Given the description of an element on the screen output the (x, y) to click on. 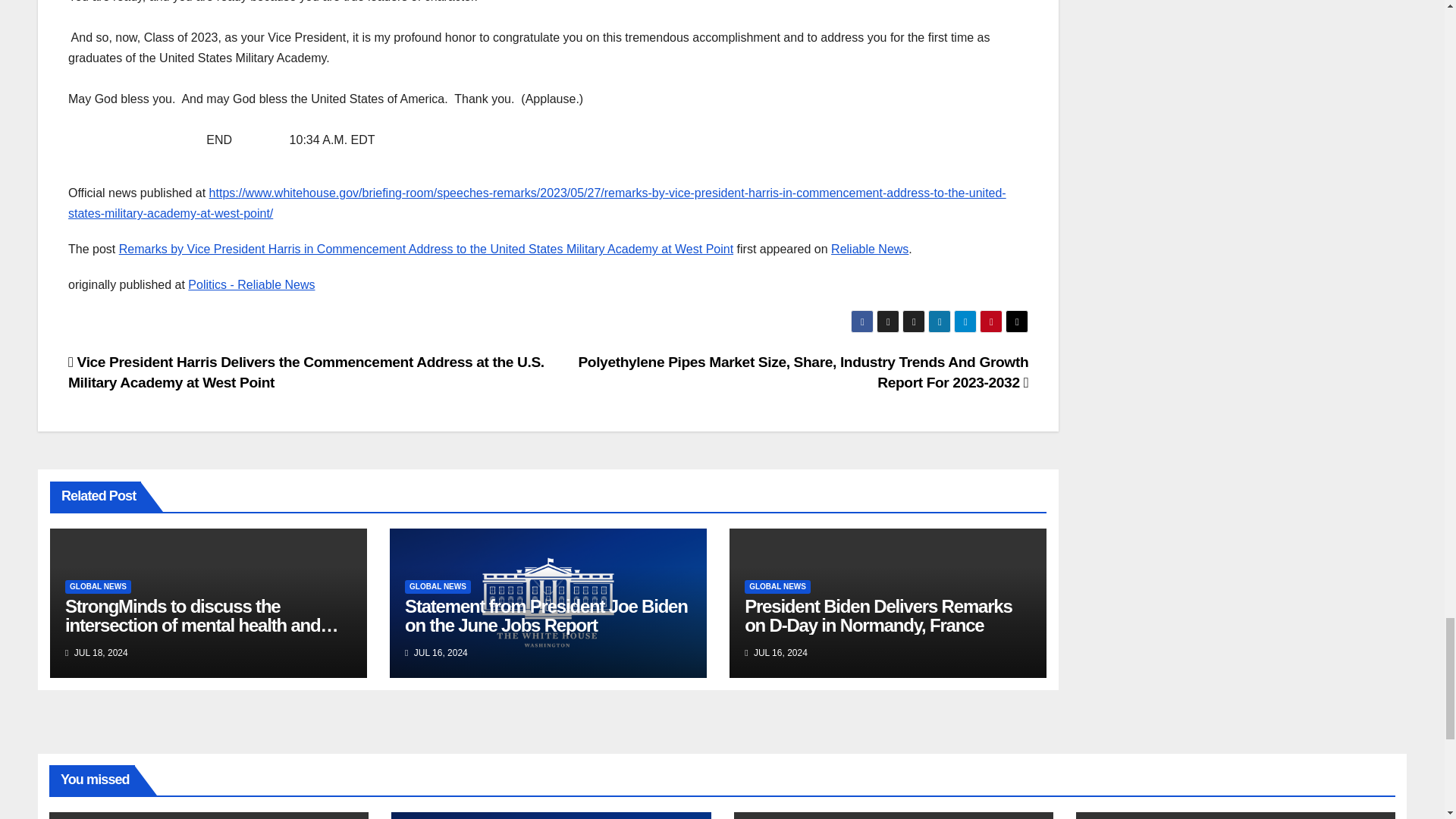
Politics - Reliable News (250, 284)
GLOBAL NEWS (98, 586)
Statement from President Joe Biden on the June Jobs Report (545, 615)
GLOBAL NEWS (437, 586)
GLOBAL NEWS (777, 586)
Reliable News (869, 248)
